Given the description of an element on the screen output the (x, y) to click on. 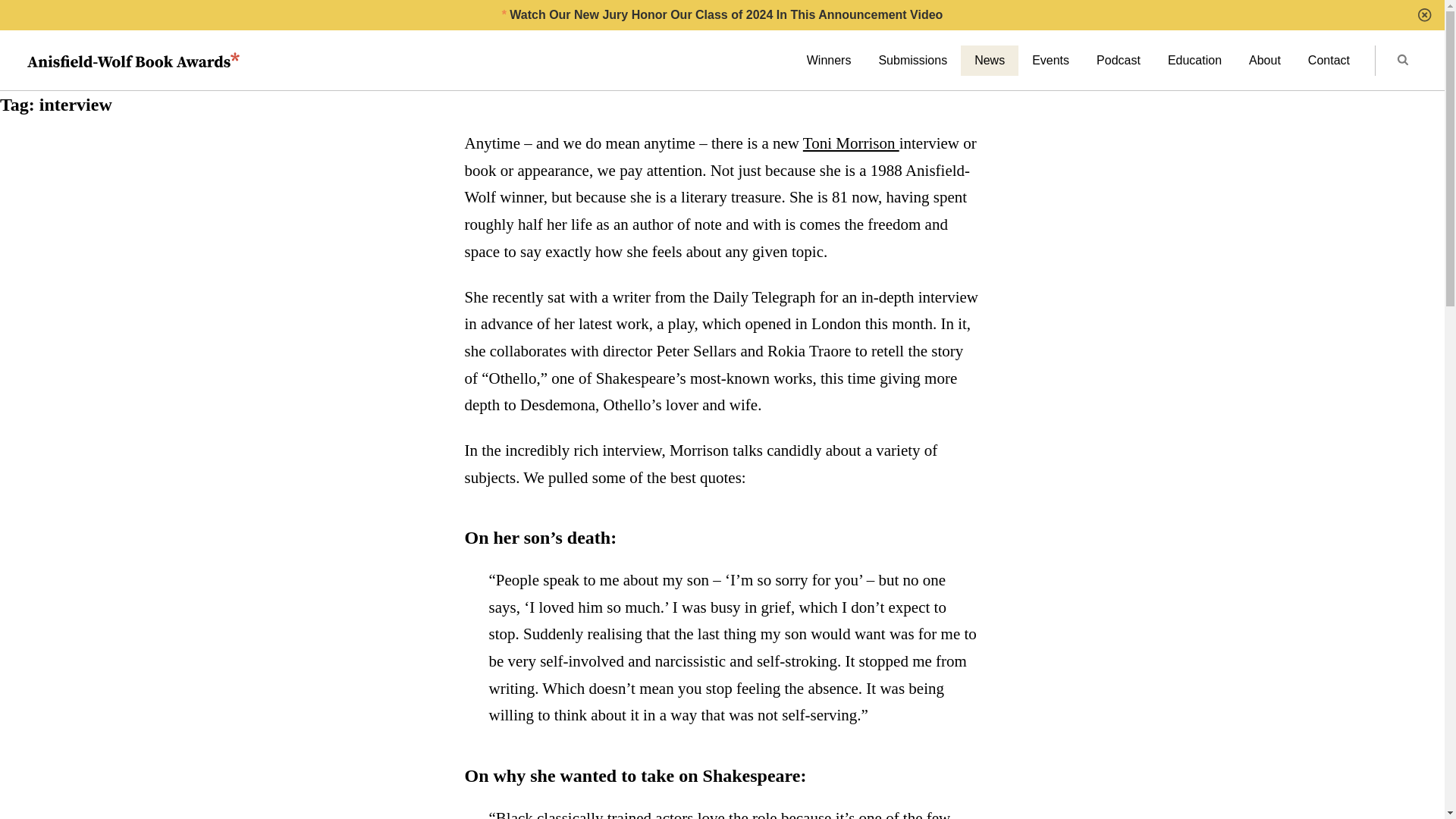
Podcast (1118, 60)
Submissions (912, 60)
Contact (1328, 60)
Anisfield-Wolf Book Awards (133, 60)
News (988, 60)
Events (1050, 60)
About (1264, 60)
Submit (1402, 60)
Winners (828, 60)
Close (1424, 14)
Education (1194, 60)
Toni Morrison (851, 143)
Activate search form (1401, 60)
